Given the description of an element on the screen output the (x, y) to click on. 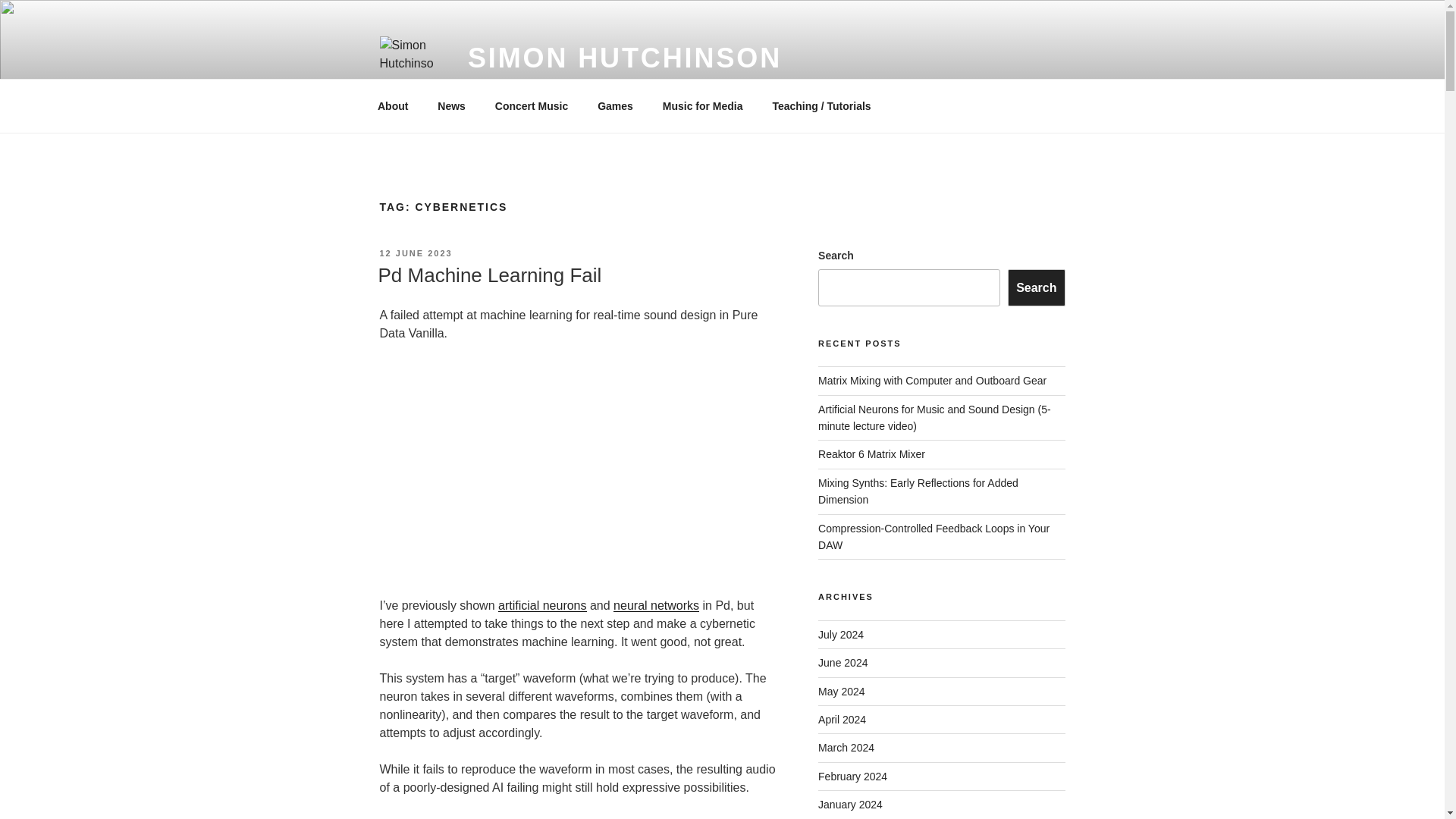
Music for Media (702, 106)
About (392, 106)
Games (615, 106)
artificial neurons (541, 604)
12 JUNE 2023 (414, 252)
neural networks (655, 604)
SIMON HUTCHINSON (624, 57)
News (452, 106)
Concert Music (530, 106)
Pd Machine Learning Fail (489, 274)
